Given the description of an element on the screen output the (x, y) to click on. 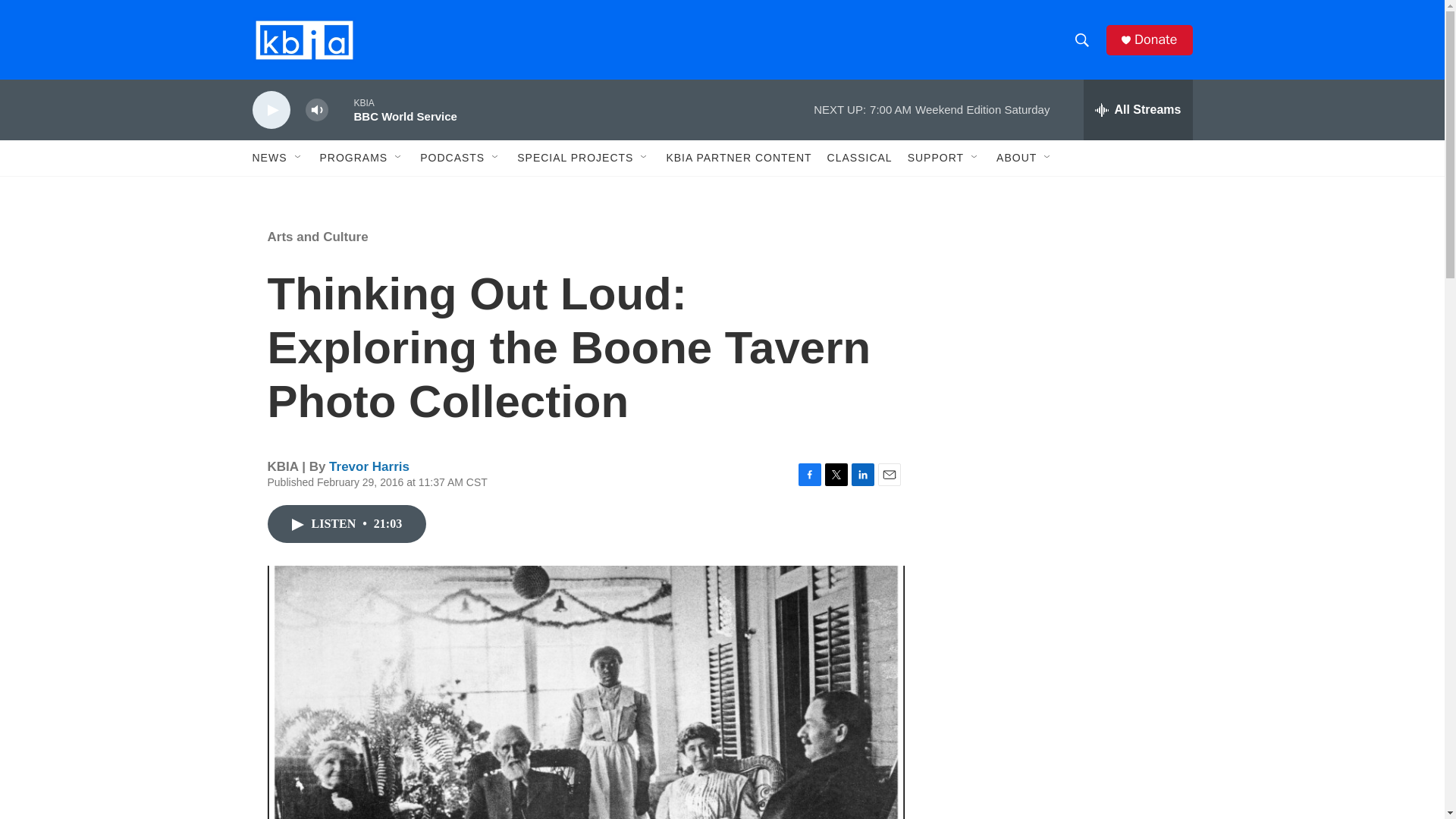
3rd party ad content (1062, 536)
3rd party ad content (1062, 316)
3rd party ad content (1062, 740)
